Given the description of an element on the screen output the (x, y) to click on. 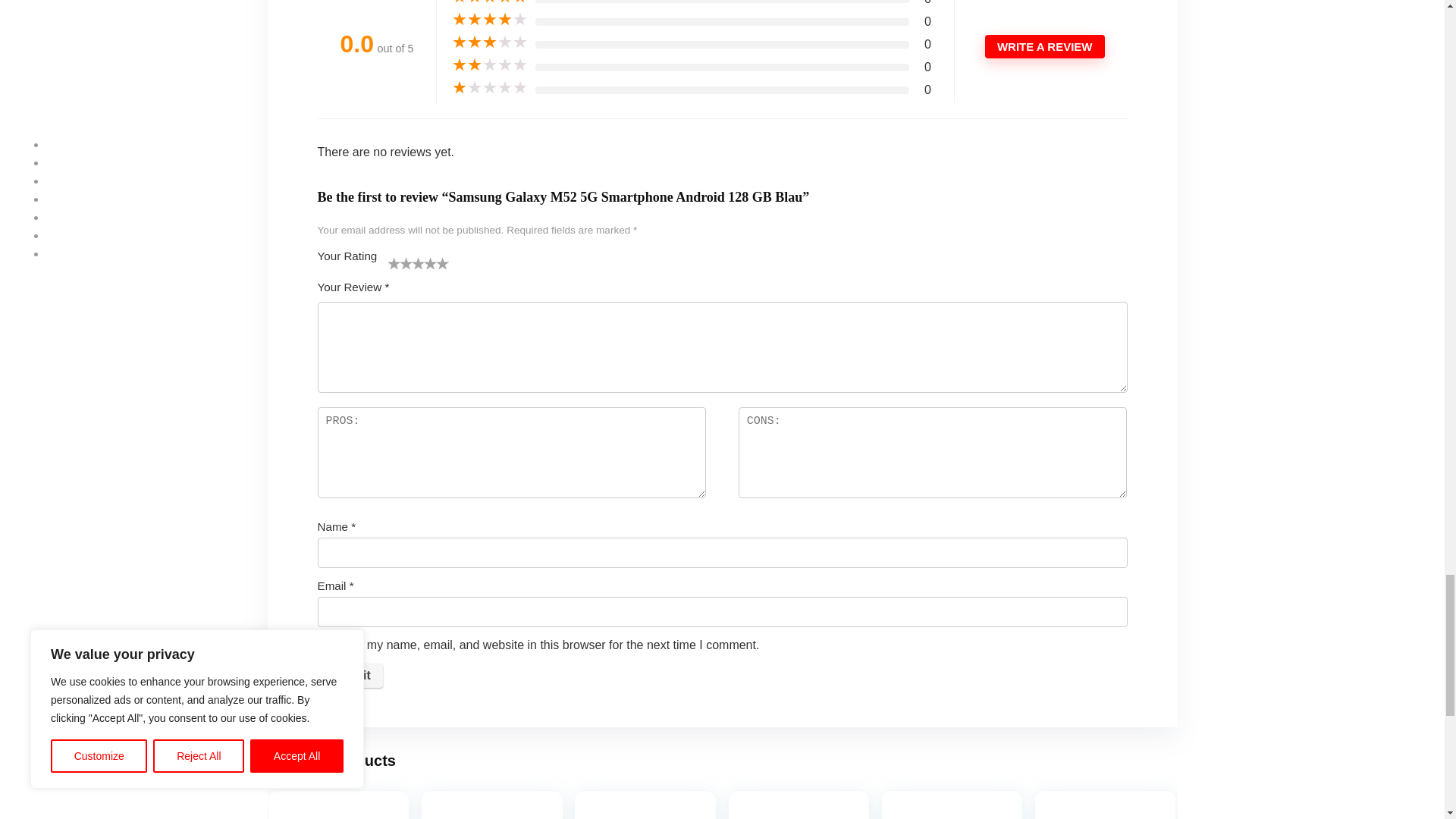
Rated 2 out of 5 (489, 64)
WRITE A REVIEW (1045, 46)
Rated 3 out of 5 (489, 42)
Rated 1 out of 5 (489, 87)
Rated 5 out of 5 (489, 2)
Rated 4 out of 5 (489, 19)
Submit (349, 675)
yes (325, 644)
